Given the description of an element on the screen output the (x, y) to click on. 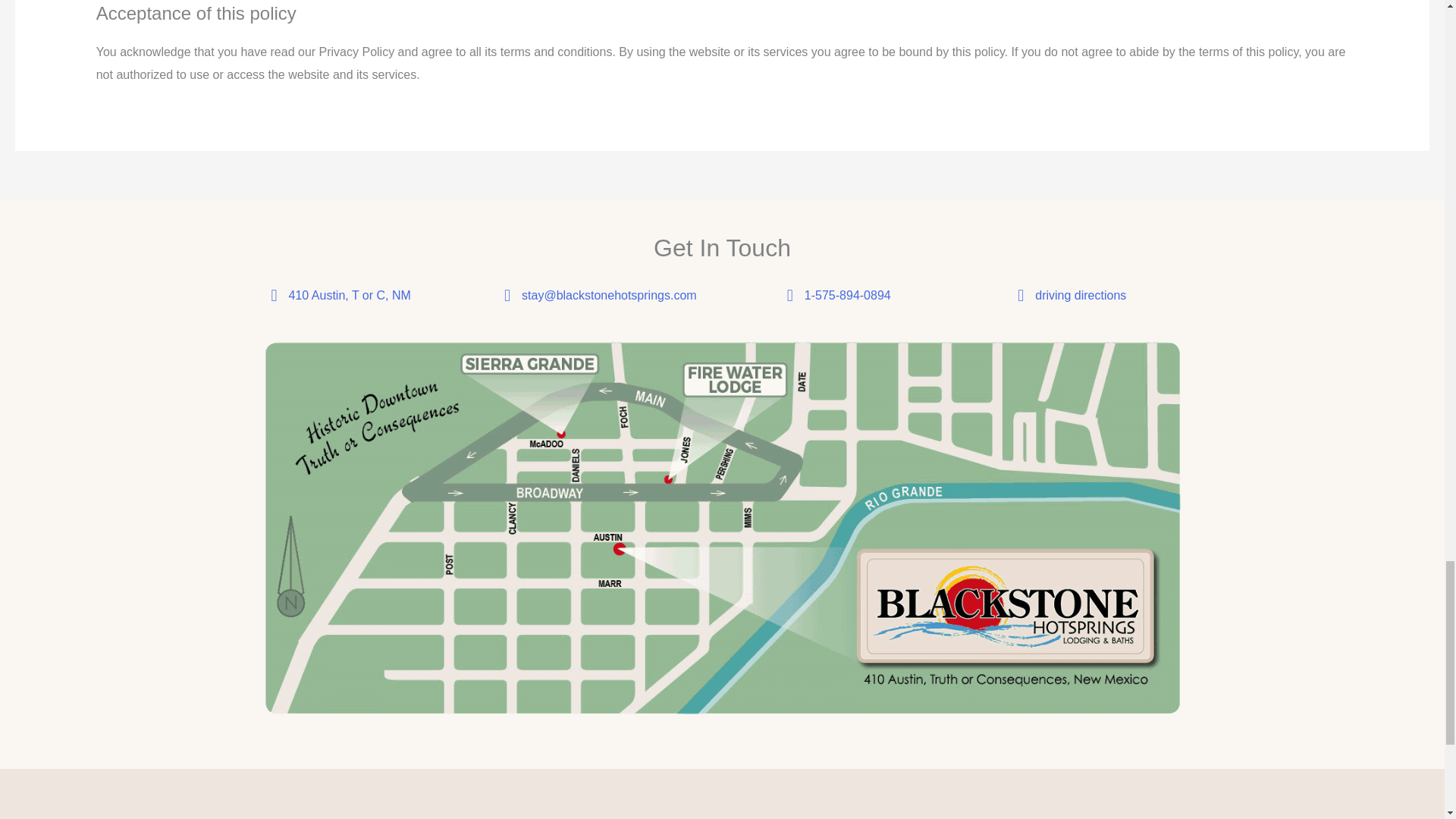
1-575-894-0894 (848, 295)
410 Austin, T or C, NM (349, 295)
driving directions (1080, 295)
